Given the description of an element on the screen output the (x, y) to click on. 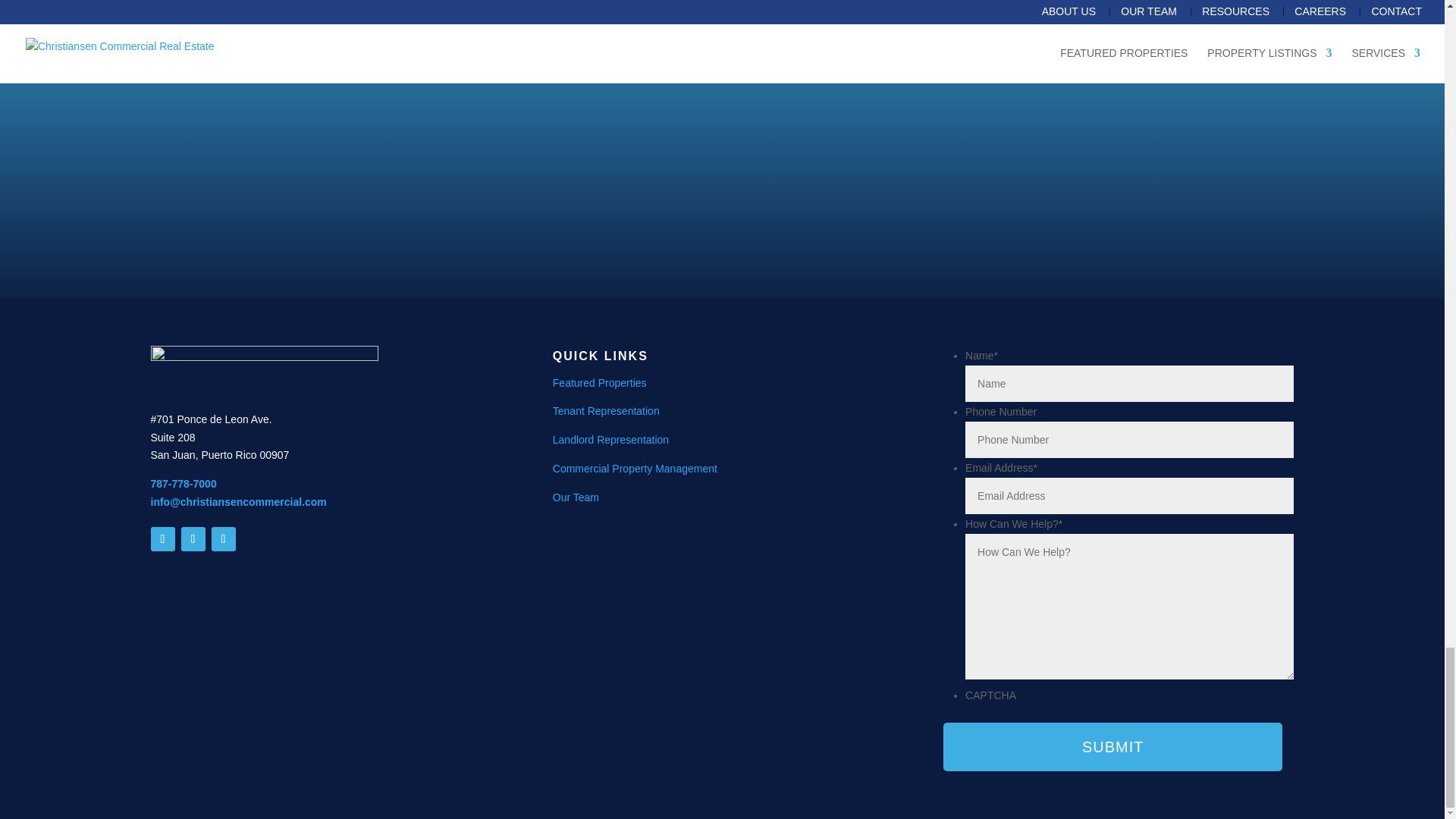
Follow on LinkedIn (192, 539)
Follow on Facebook (222, 539)
Featured Properties (599, 382)
Follow on Youtube (161, 539)
787-778-7000 (182, 483)
